Given the description of an element on the screen output the (x, y) to click on. 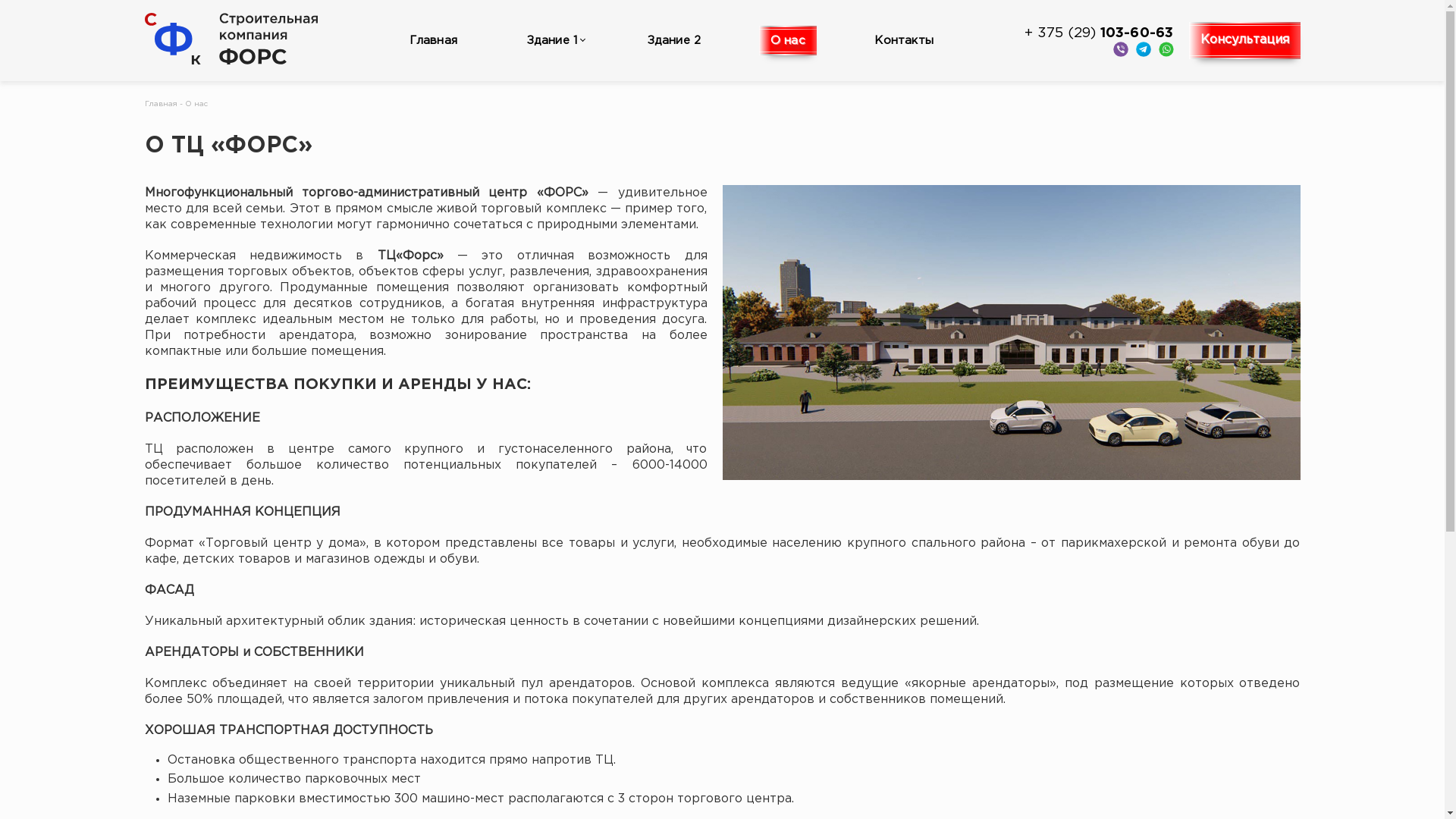
+ 375 (29) 103-60-63 Element type: text (1098, 33)
